Given the description of an element on the screen output the (x, y) to click on. 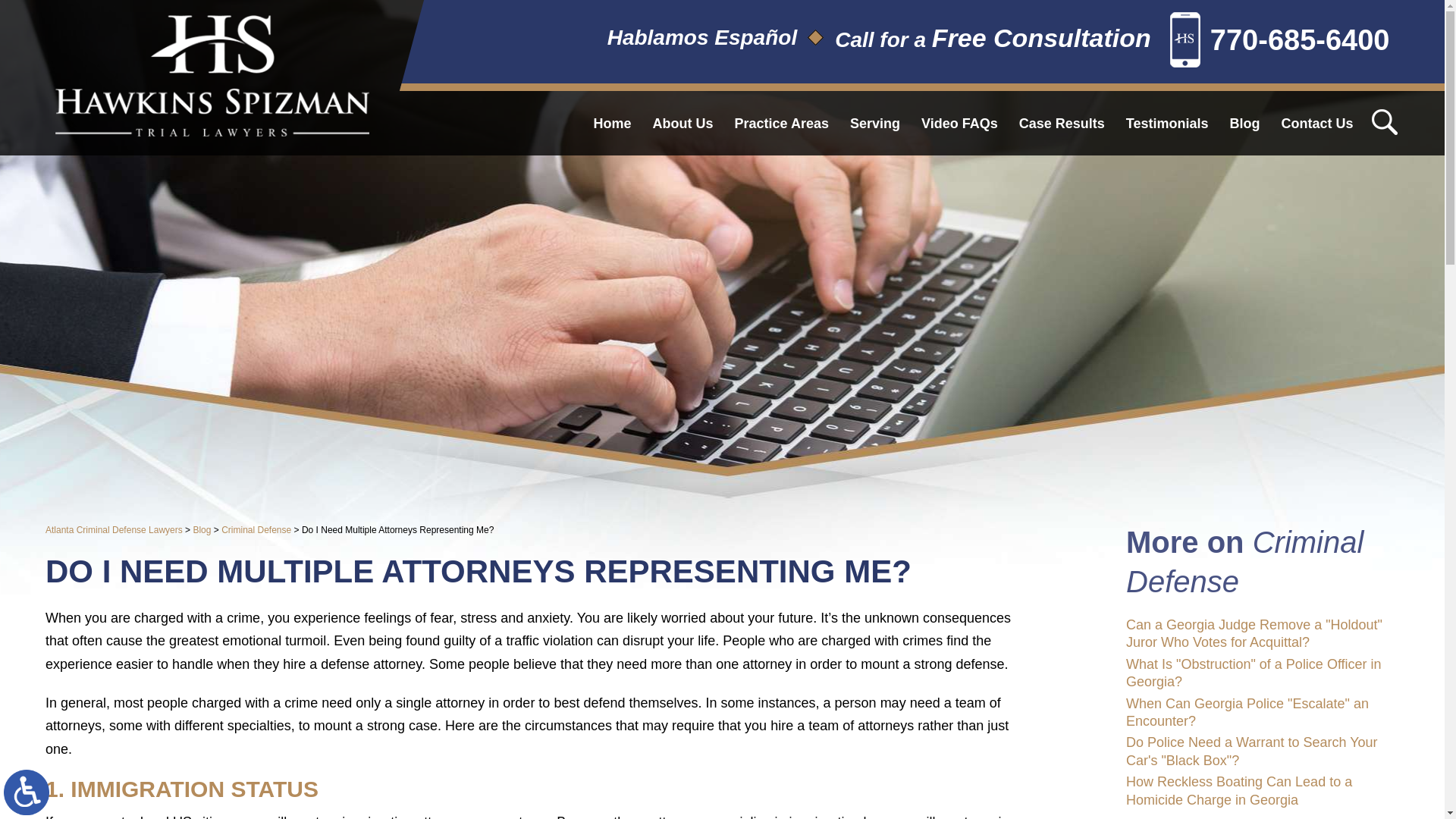
About Us (682, 123)
Practice Areas (781, 123)
Search (1383, 121)
Home (612, 123)
Switch to ADA Accessible Theme (26, 791)
770-685-6400 (1280, 41)
